Given the description of an element on the screen output the (x, y) to click on. 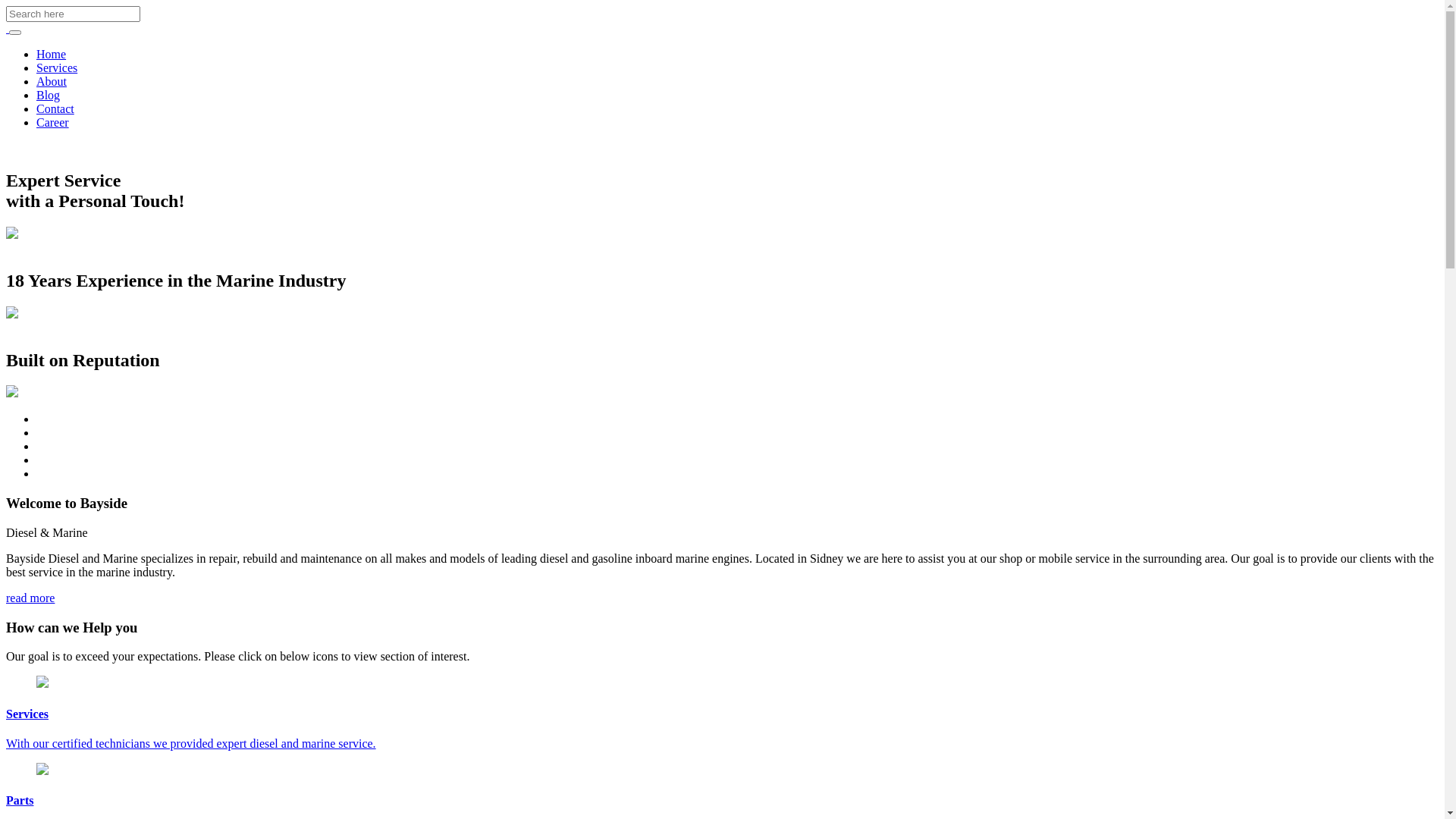
read more Element type: text (30, 597)
Services Element type: text (56, 67)
About Element type: text (51, 81)
Contact Element type: text (55, 108)
Blog Element type: text (47, 94)
Home Element type: text (50, 53)
Career Element type: text (52, 122)
